Given the description of an element on the screen output the (x, y) to click on. 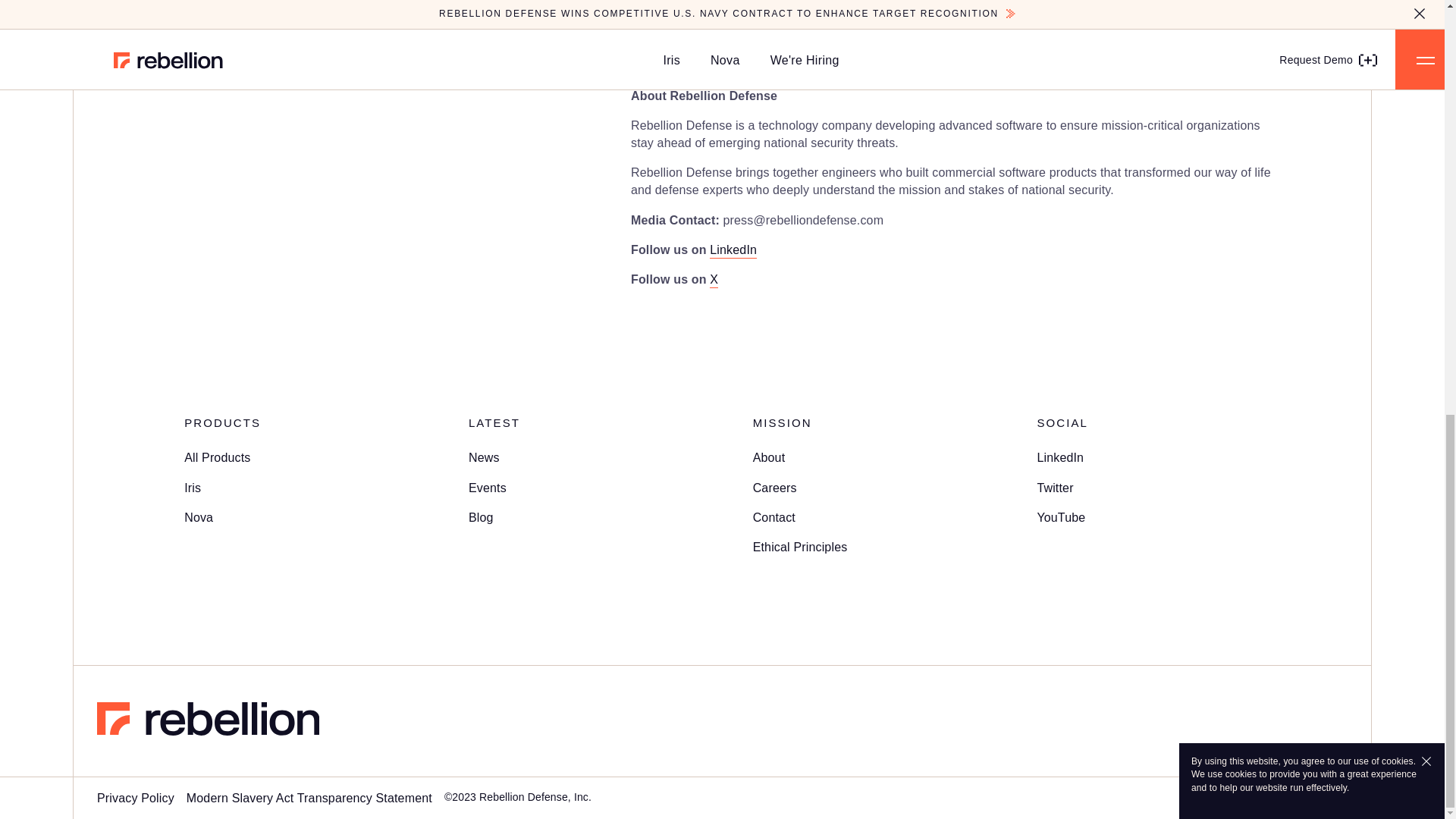
Twitter (1054, 487)
YouTube (1060, 517)
All Products (217, 457)
Iris (192, 487)
LinkedIn (1059, 457)
Careers (774, 487)
Events (487, 487)
News (483, 457)
Blog (480, 517)
Nova (198, 517)
